Given the description of an element on the screen output the (x, y) to click on. 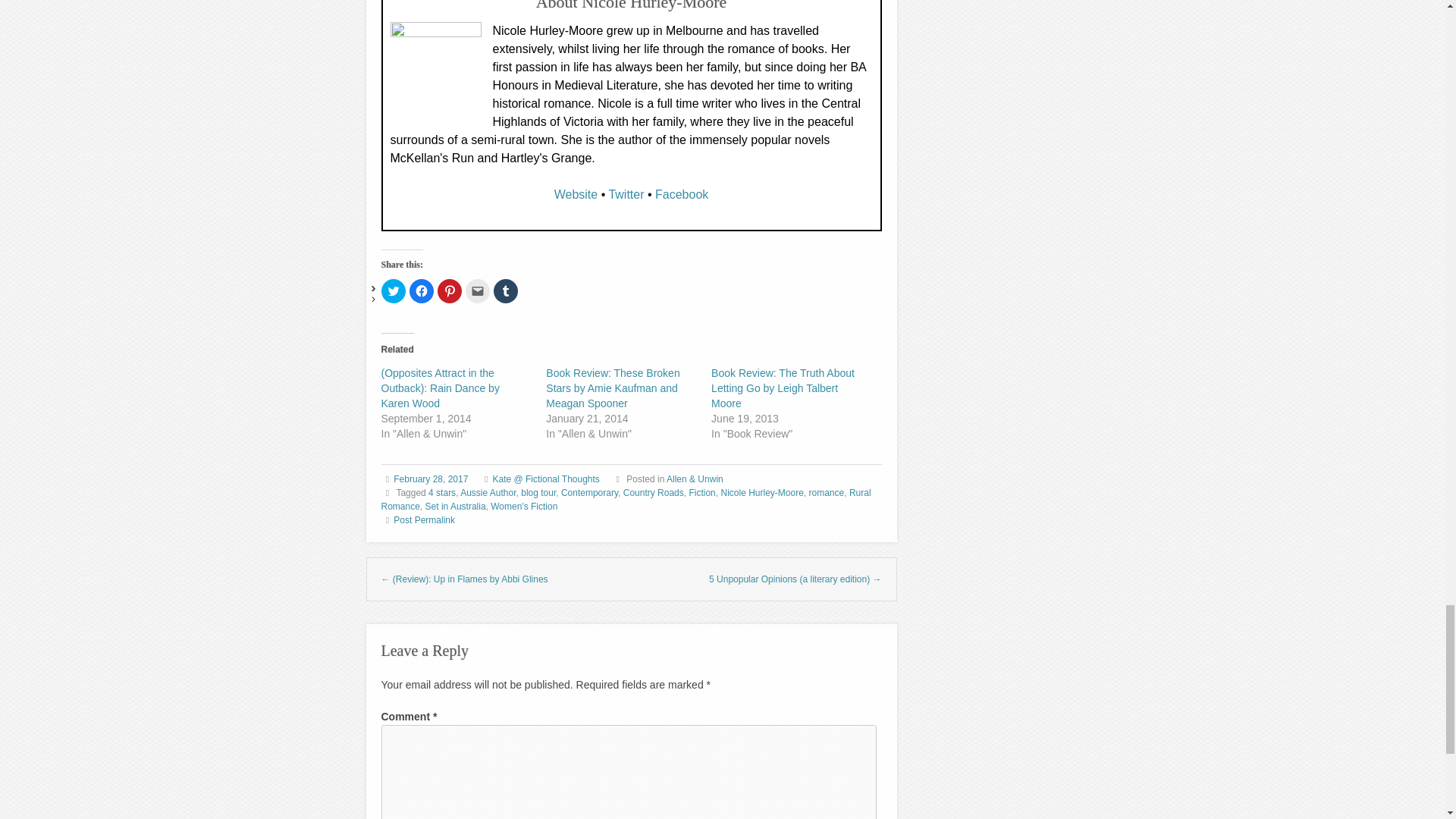
Aussie Author (487, 492)
Twitter (625, 194)
Click to share on Twitter (392, 291)
Facebook (681, 194)
09:00 (430, 479)
Website (576, 194)
Click to email a link to a friend (477, 291)
4 stars (441, 492)
February 28, 2017 (430, 479)
Click to share on Pinterest (448, 291)
Click to share on Facebook (421, 291)
